Given the description of an element on the screen output the (x, y) to click on. 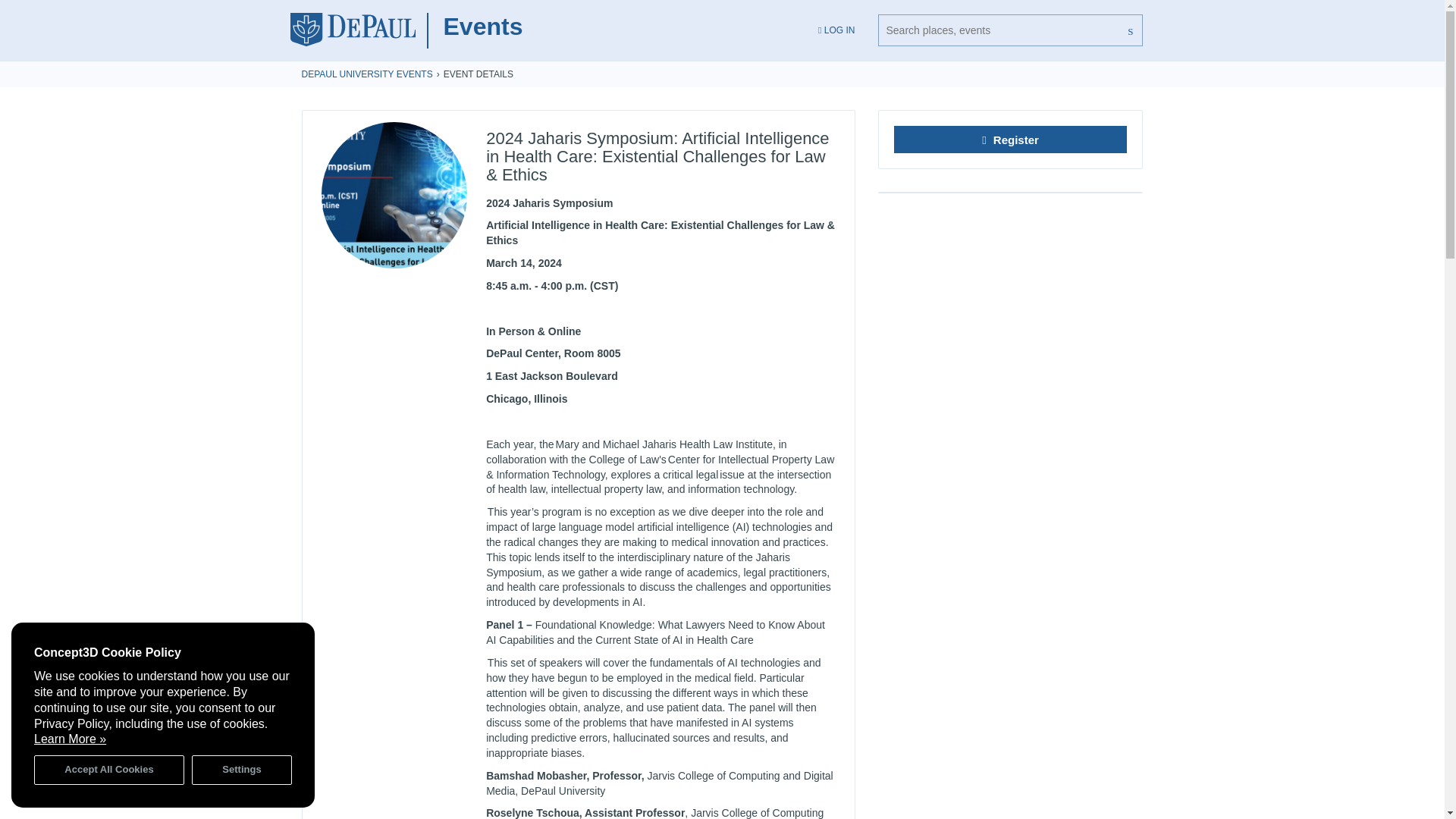
Search (1131, 30)
LOG IN (836, 30)
Events (482, 25)
DEPAUL UNIVERSITY EVENTS (366, 73)
Register (1009, 139)
